Given the description of an element on the screen output the (x, y) to click on. 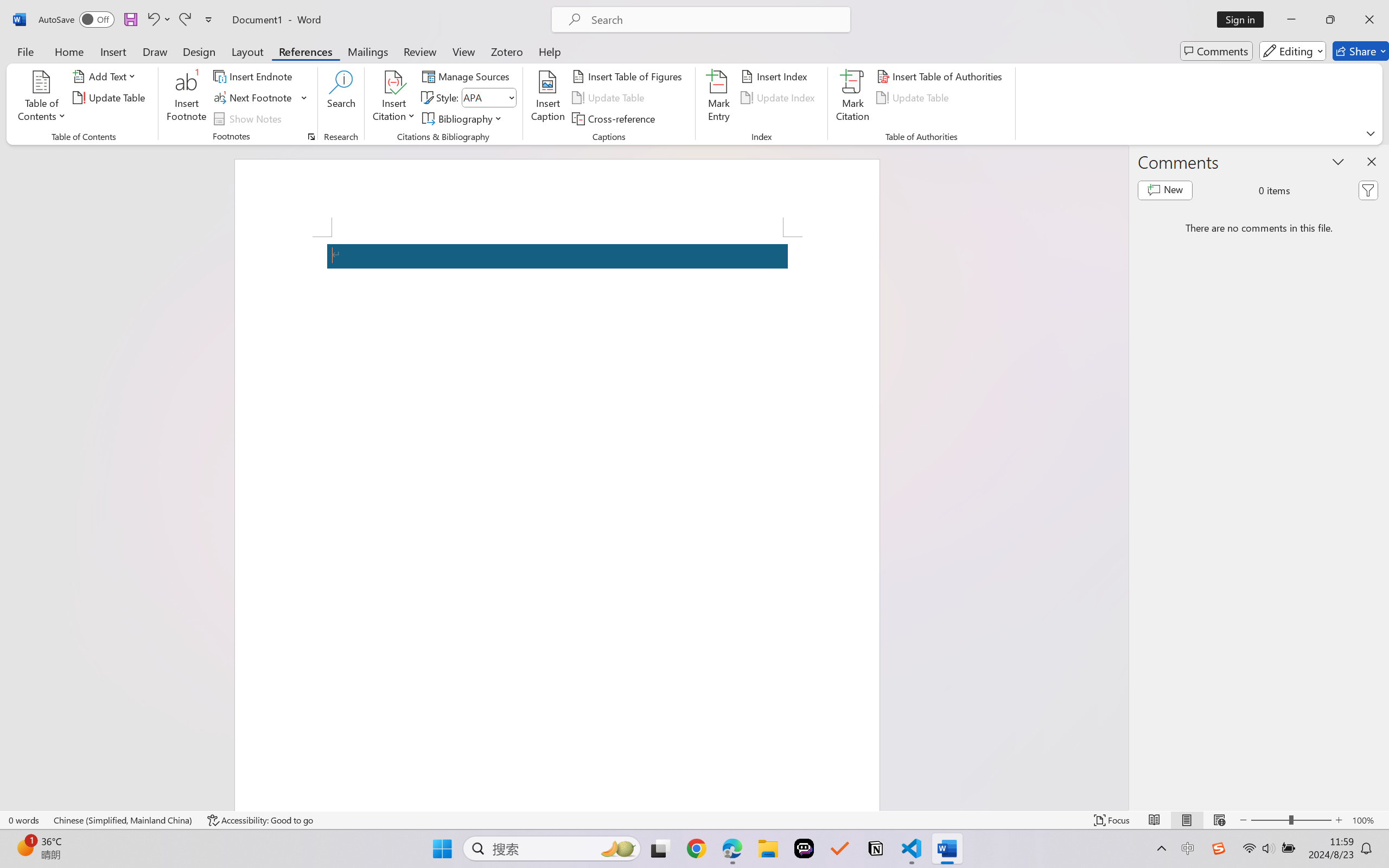
Update Table (914, 97)
Insert Citation (393, 97)
Insert Table of Figures... (628, 75)
Sign in (1244, 19)
Insert Caption... (547, 97)
Mark Entry... (718, 97)
Footnote and Endnote Dialog... (311, 136)
